Given the description of an element on the screen output the (x, y) to click on. 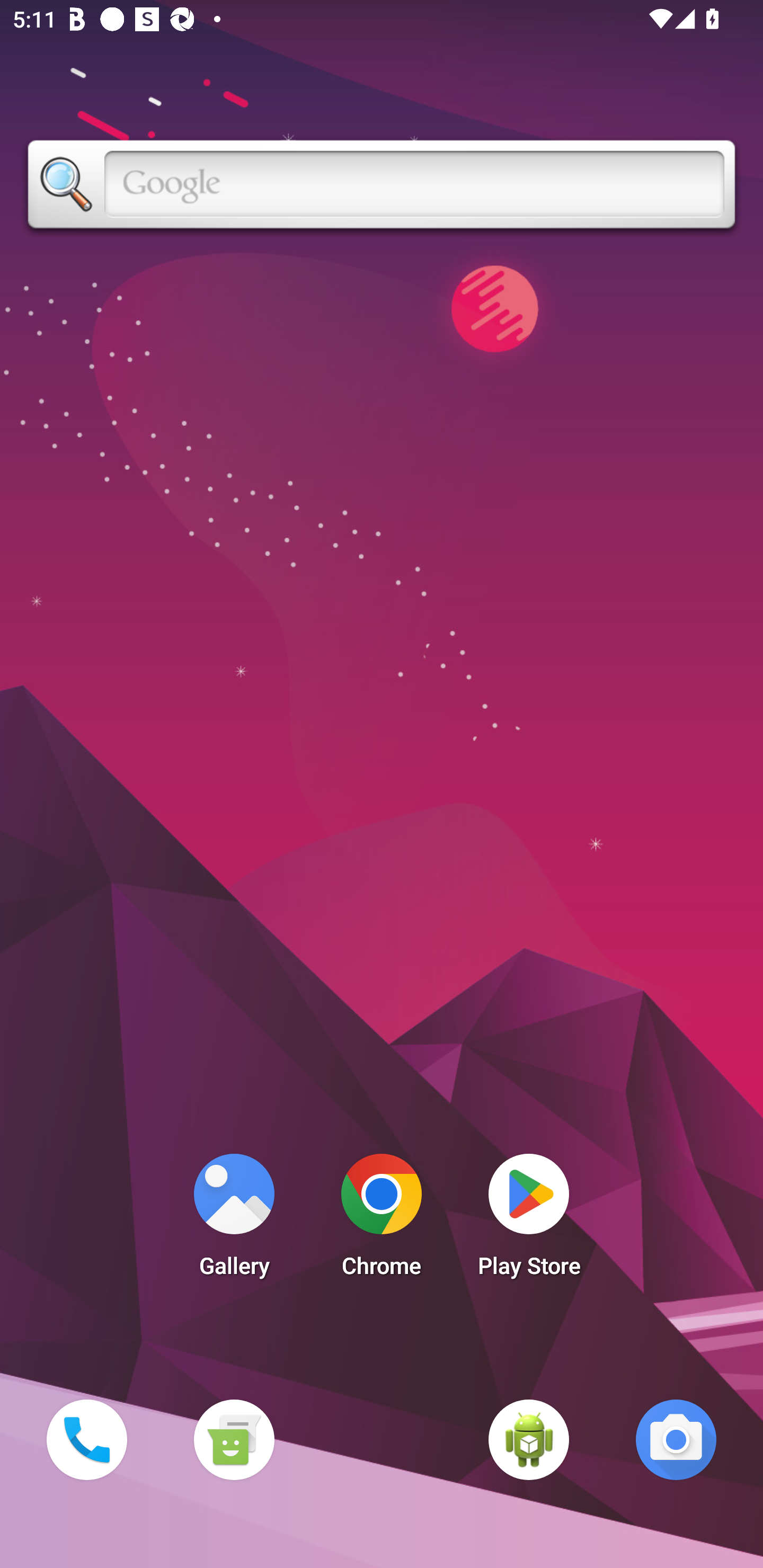
Gallery (233, 1220)
Chrome (381, 1220)
Play Store (528, 1220)
Phone (86, 1439)
Messaging (233, 1439)
WebView Browser Tester (528, 1439)
Camera (676, 1439)
